Given the description of an element on the screen output the (x, y) to click on. 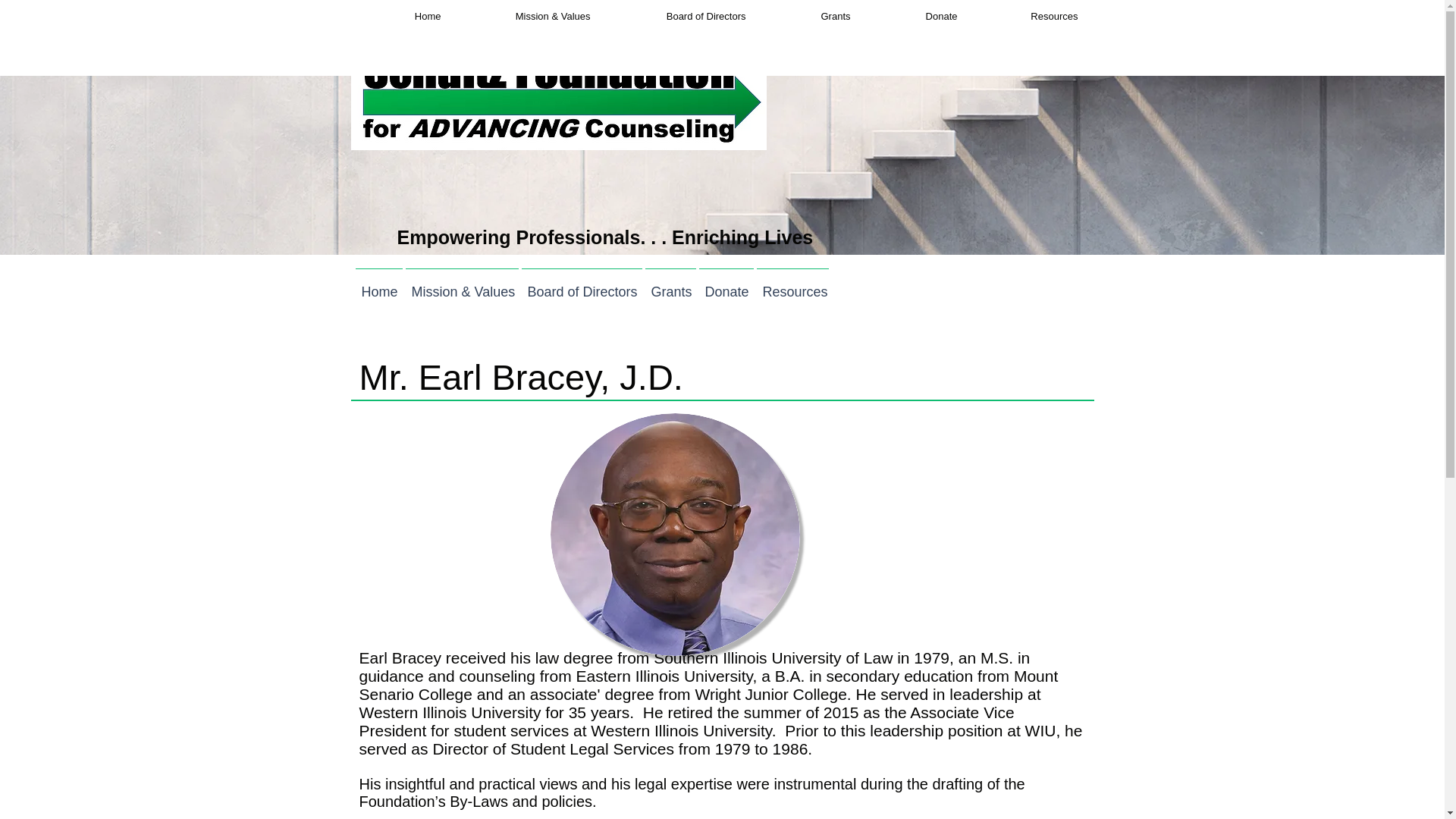
Board of Directors (679, 15)
Home (378, 285)
Home (400, 15)
